Given the description of an element on the screen output the (x, y) to click on. 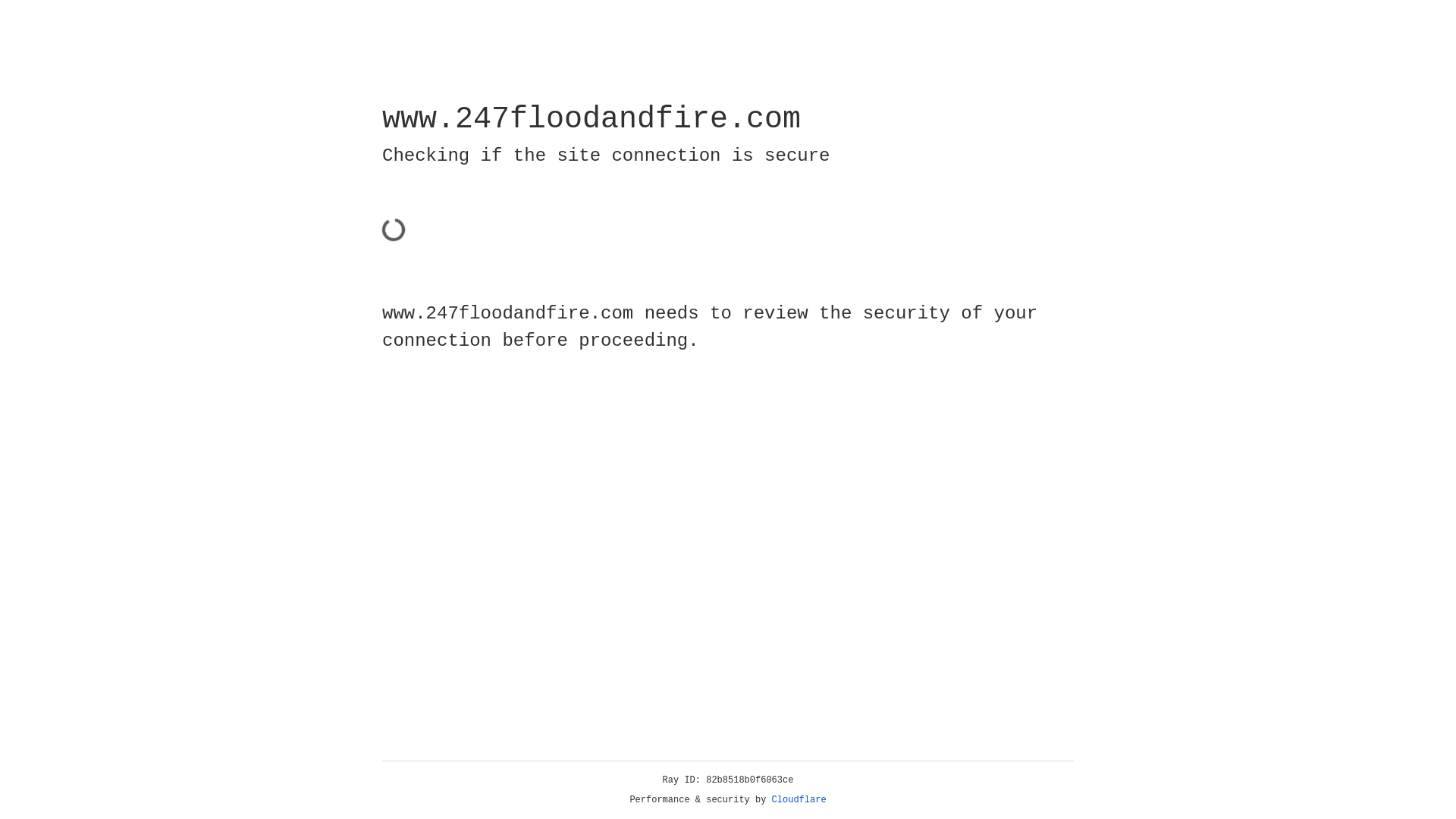
Cloudflare Element type: text (798, 799)
